Given the description of an element on the screen output the (x, y) to click on. 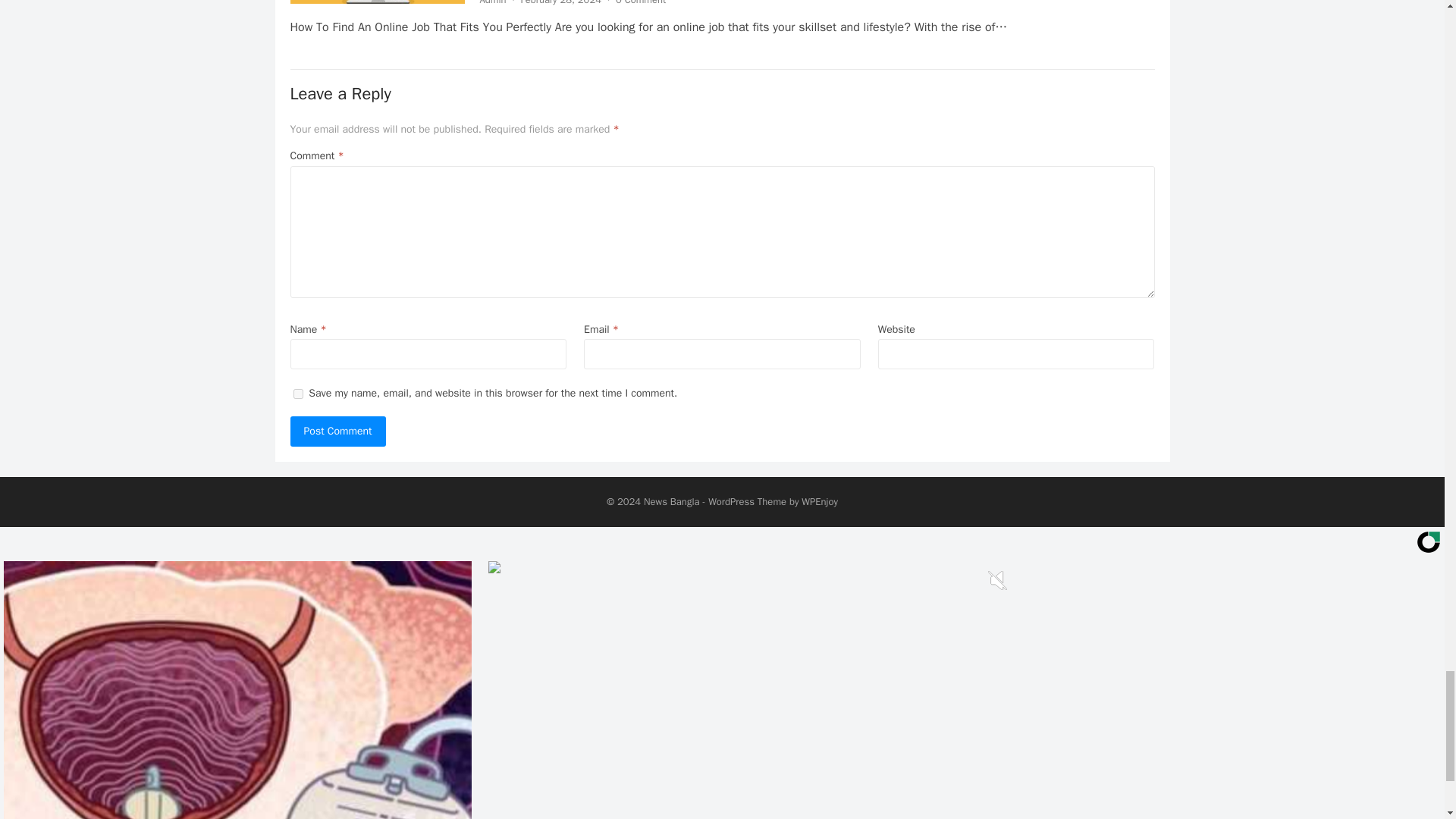
yes (297, 393)
Post Comment (337, 431)
Posts by Admin (492, 2)
